Given the description of an element on the screen output the (x, y) to click on. 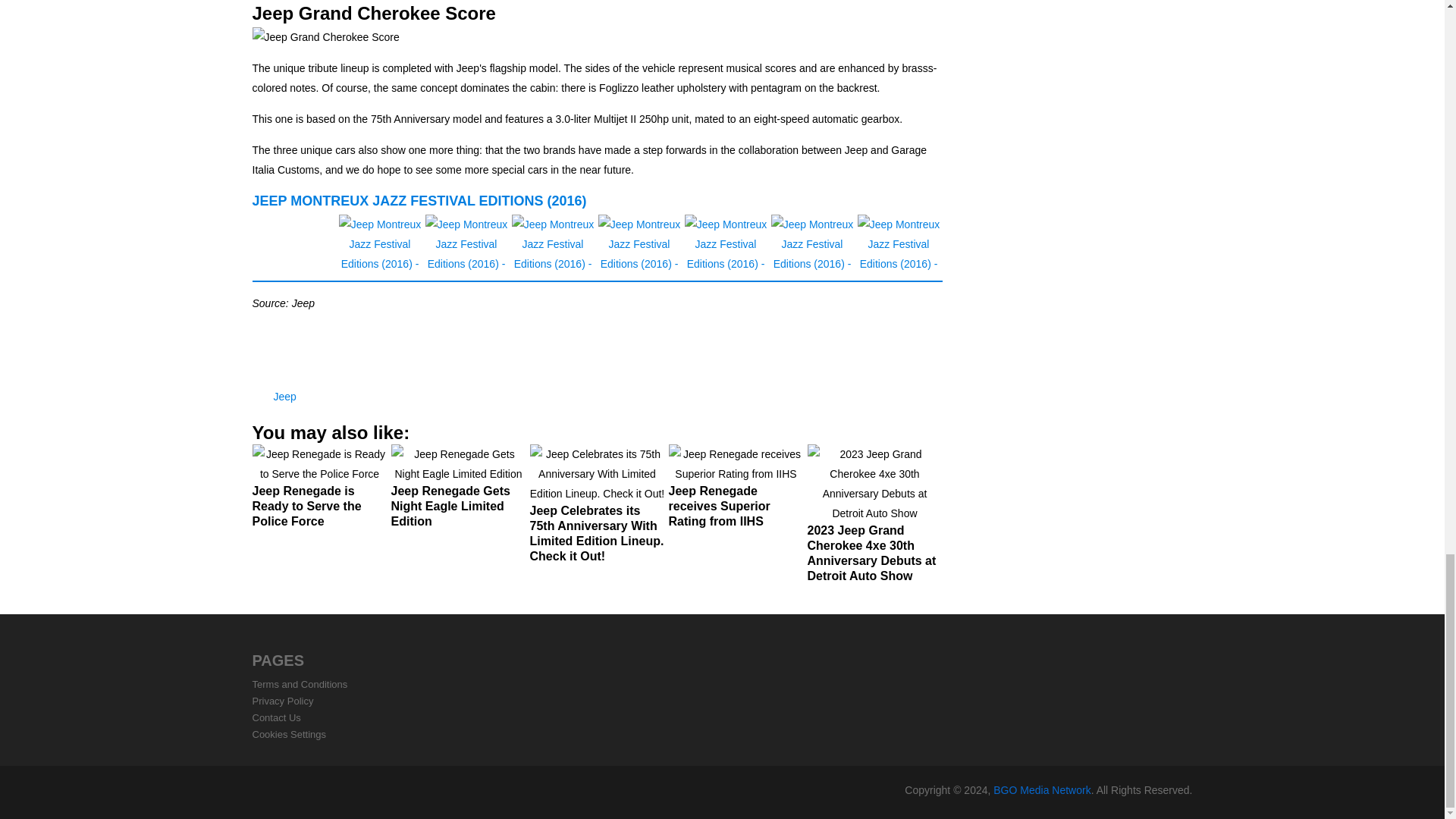
Terms and Conditions (299, 684)
Contact Us (275, 717)
Jeep Renegade Gets Night Eagle Limited Edition (458, 492)
Jeep Renegade is Ready to Serve the Police Force (319, 492)
Contact Us (275, 717)
Jeep Renegade receives Superior Rating from IIHS (735, 492)
Jeep (284, 396)
Terms and Conditions (299, 684)
Privacy Policy (282, 700)
Privacy Policy (282, 700)
